Given the description of an element on the screen output the (x, y) to click on. 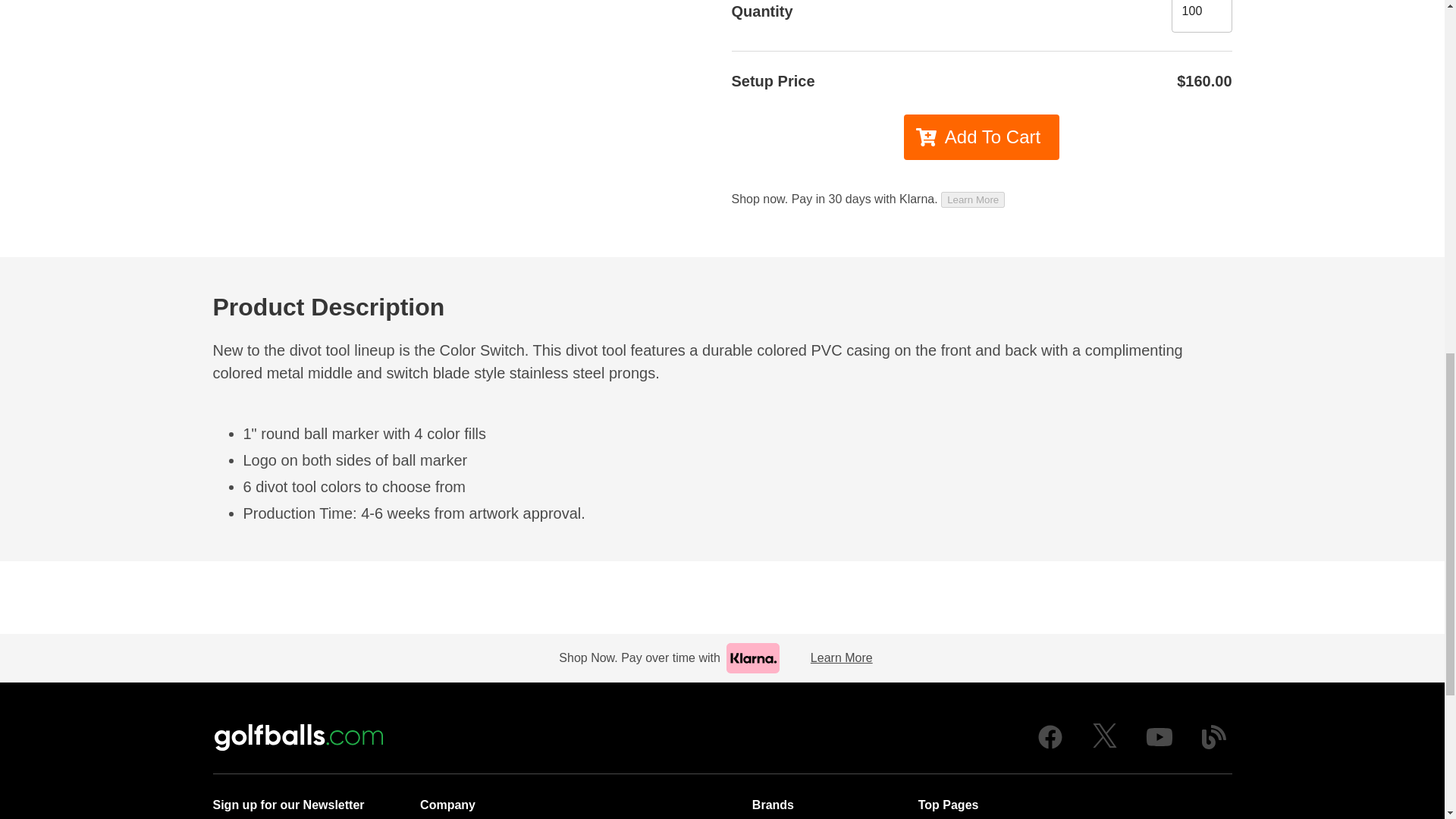
100 (1200, 16)
